Given the description of an element on the screen output the (x, y) to click on. 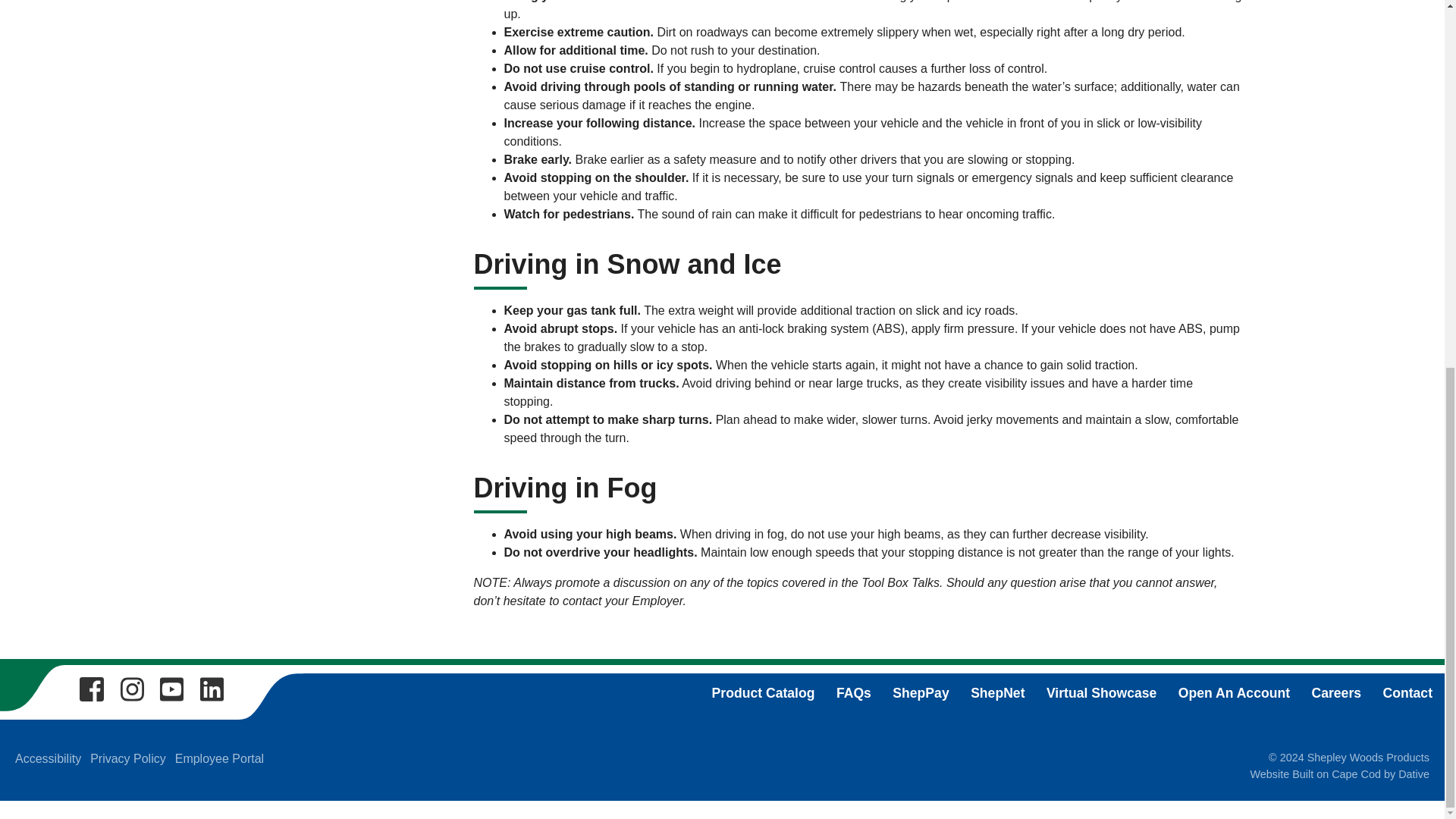
Employee Portal (218, 758)
Website Built on Cape Cod by Dative (1339, 773)
Shepley Youtube Channel Link (170, 687)
Contact (1407, 693)
Privacy Policy (127, 758)
ShepNet (998, 693)
Shepley Instagram Social Media Link (131, 687)
Shepley LinkedIn Social Media Link (211, 687)
Open An Account (1233, 693)
Shepley Facebook Social Media Link (91, 687)
